Given the description of an element on the screen output the (x, y) to click on. 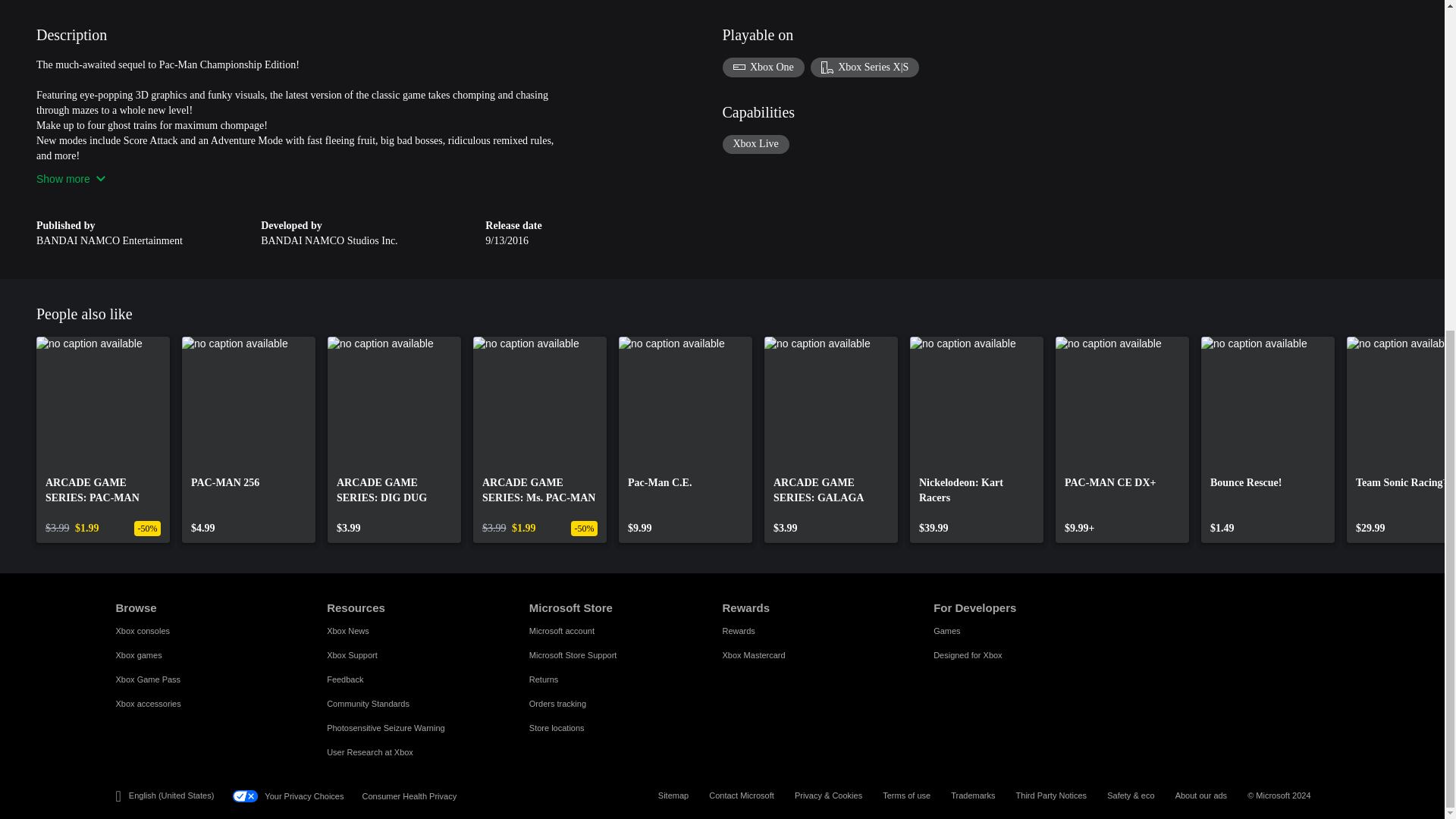
Nickelodeon: Kart Racers (976, 439)
PAC-MAN 256 (248, 439)
Pac-Man C.E. (685, 439)
ARCADE GAME SERIES: PAC-MAN (103, 439)
Bounce Rescue! (1268, 439)
ARCADE GAME SERIES: DIG DUG (394, 439)
ARCADE GAME SERIES: Ms. PAC-MAN (540, 439)
ARCADE GAME SERIES: GALAGA (831, 439)
